Given the description of an element on the screen output the (x, y) to click on. 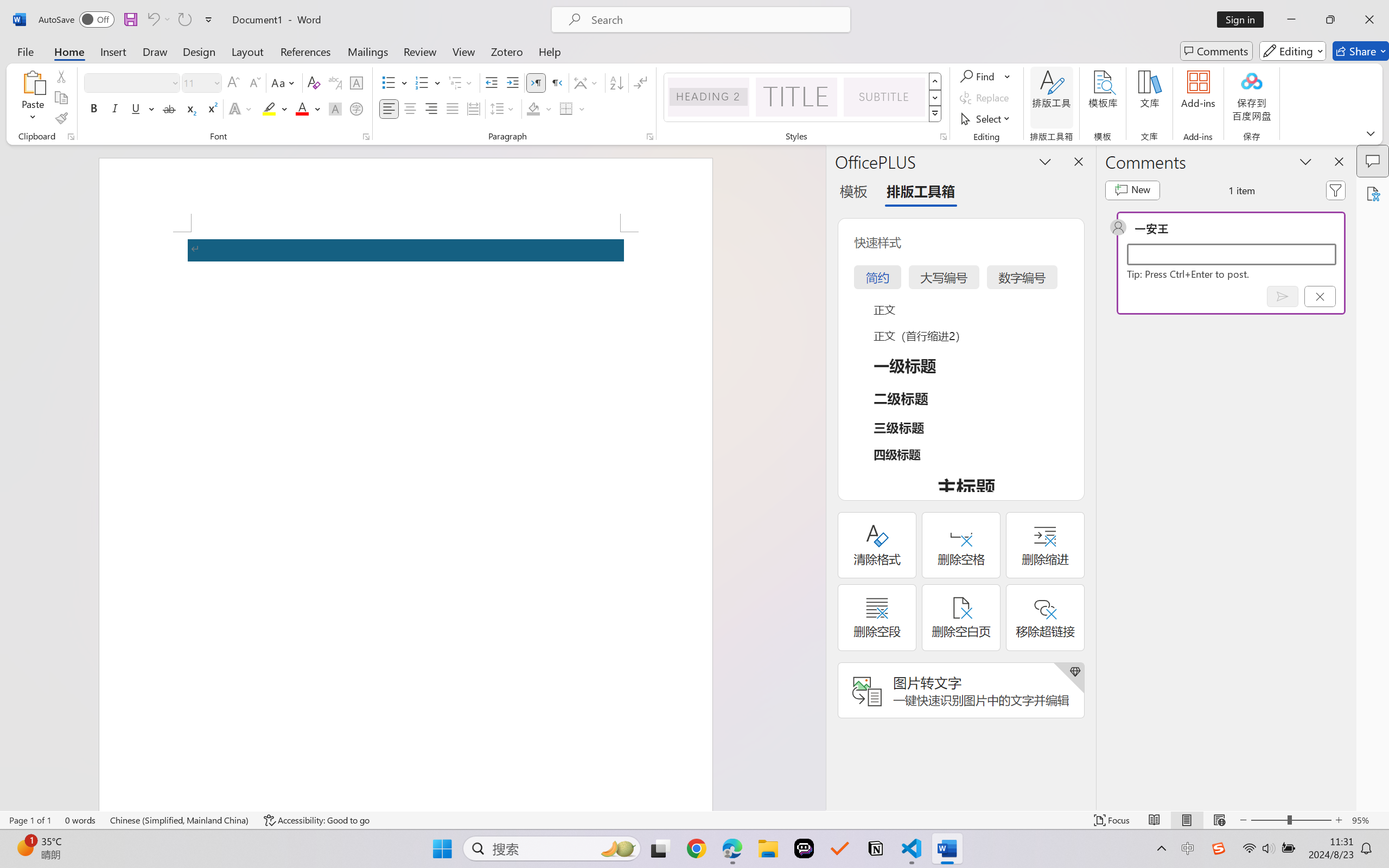
Start a conversation (1231, 254)
Language Chinese (Simplified, Mainland China) (179, 819)
